Given the description of an element on the screen output the (x, y) to click on. 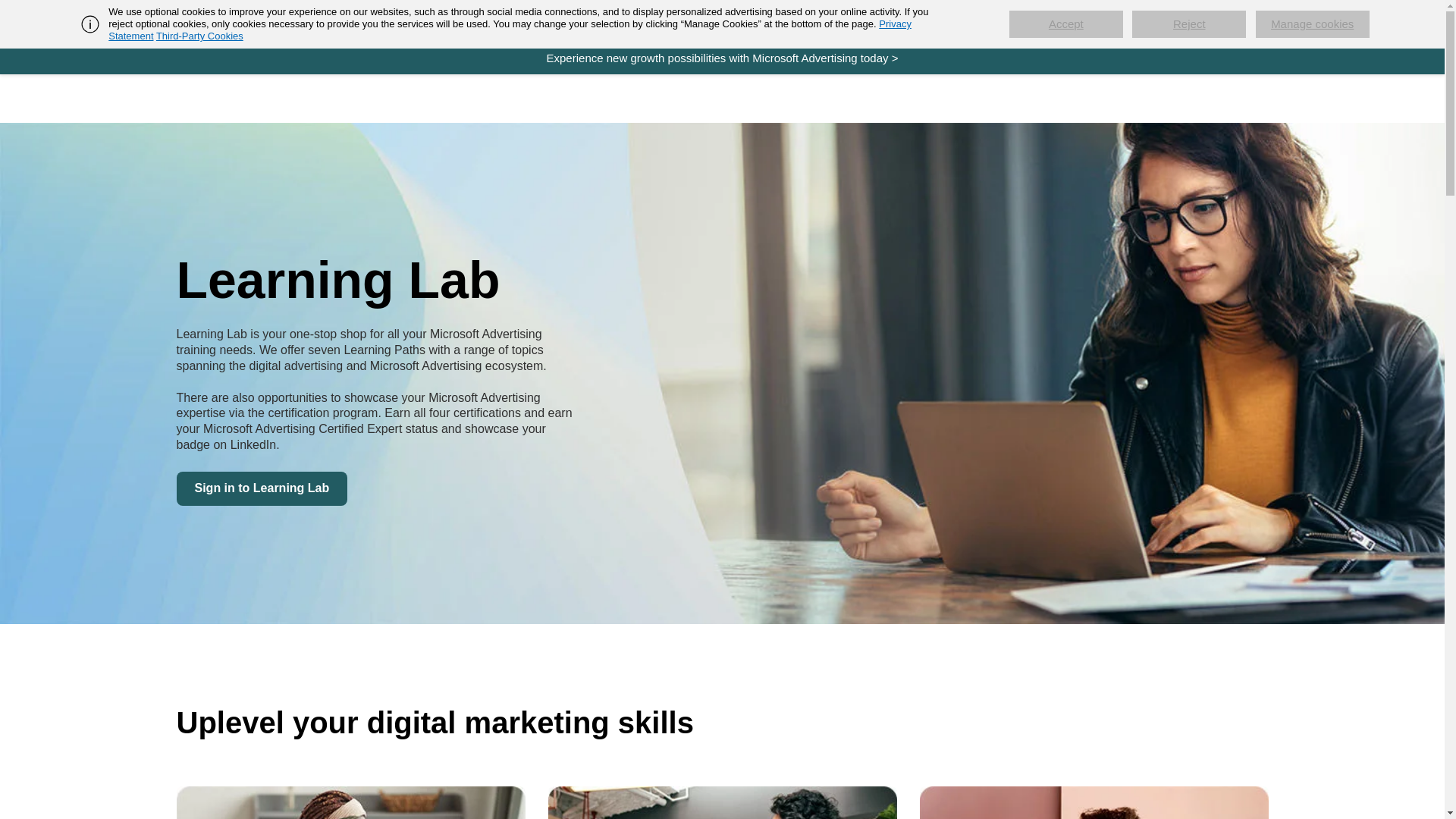
Manage cookies (1312, 23)
Microsoft (255, 20)
Get started (377, 20)
Accept (1065, 23)
Reject (1189, 23)
Third-Party Cookies (199, 35)
Solutions (453, 20)
Privacy Statement (509, 29)
Tools (517, 20)
